Given the description of an element on the screen output the (x, y) to click on. 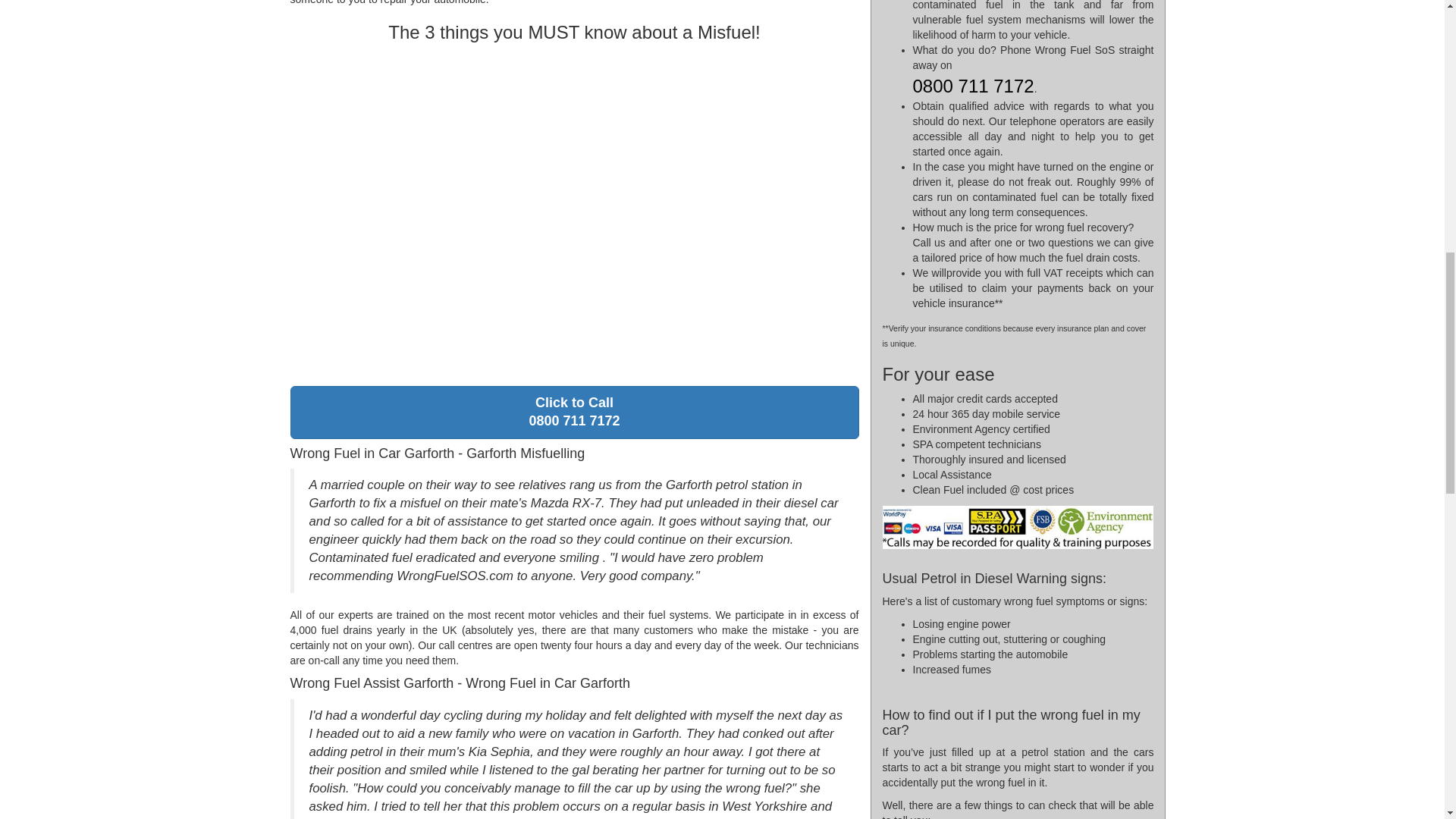
0800 711 7172 (574, 411)
